Given the description of an element on the screen output the (x, y) to click on. 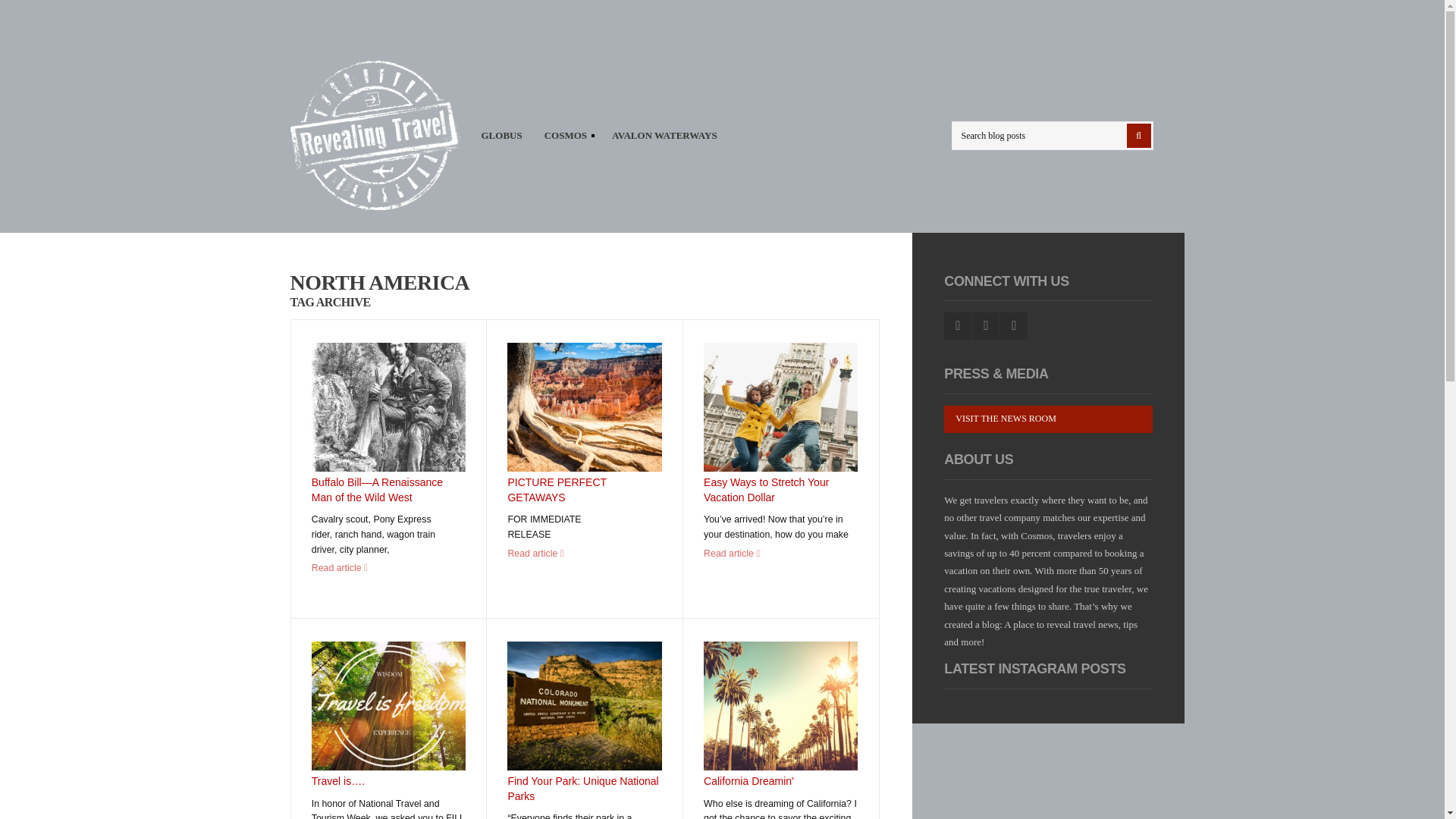
AVALON WATERWAYS (664, 135)
GLOBUS (501, 135)
Read article (534, 552)
PICTURE PERFECT GETAWAYS (555, 489)
Read article (339, 567)
Read article (731, 552)
Find Your Park: Unique National... (583, 705)
Easy Ways to Stretch Your Vacation Dollar (765, 489)
Find Your Park: Unique National Parks (582, 788)
PICTURE PERFECT GETAWAYS (583, 407)
